Given the description of an element on the screen output the (x, y) to click on. 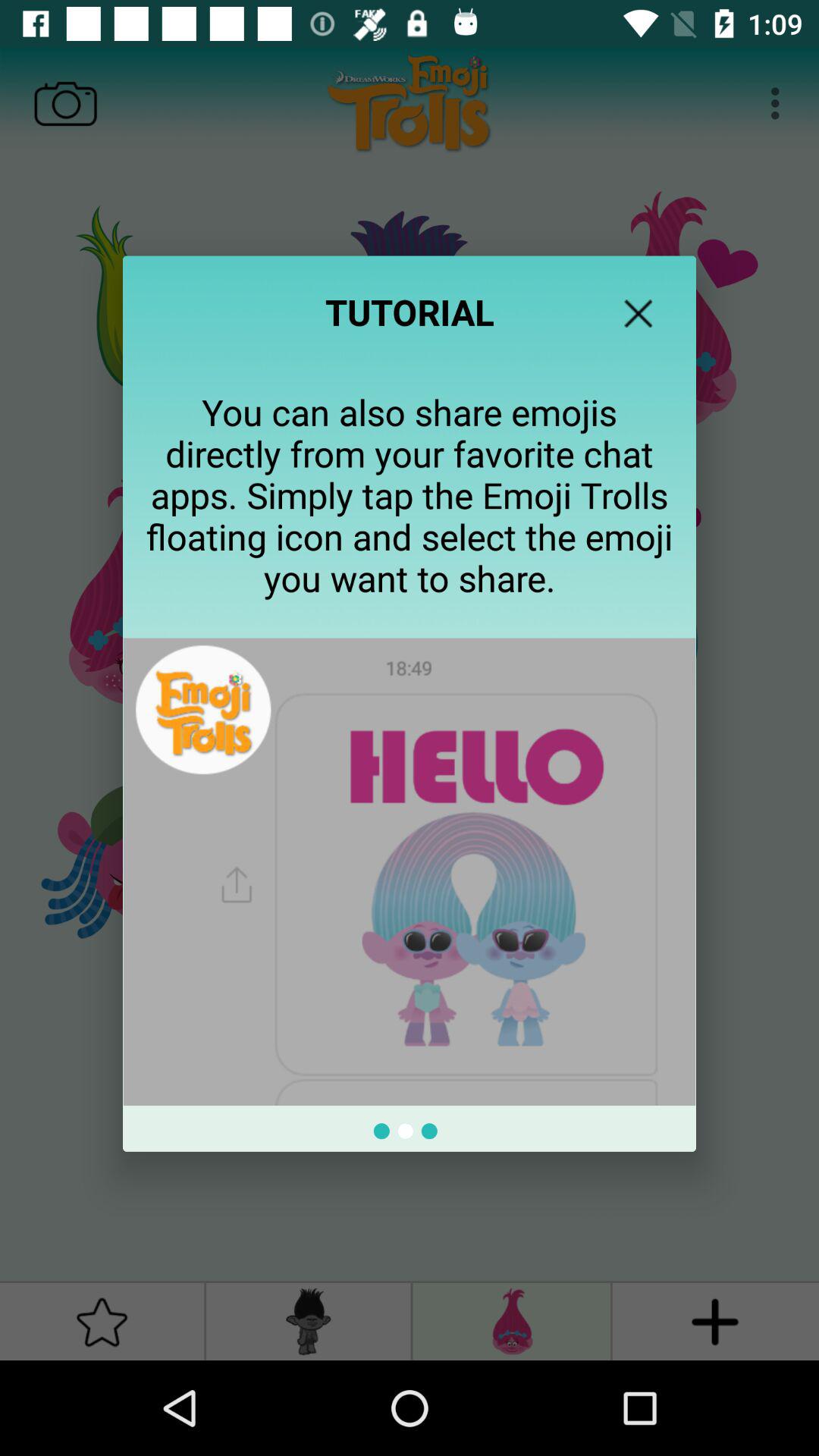
close tutorial (638, 313)
